Given the description of an element on the screen output the (x, y) to click on. 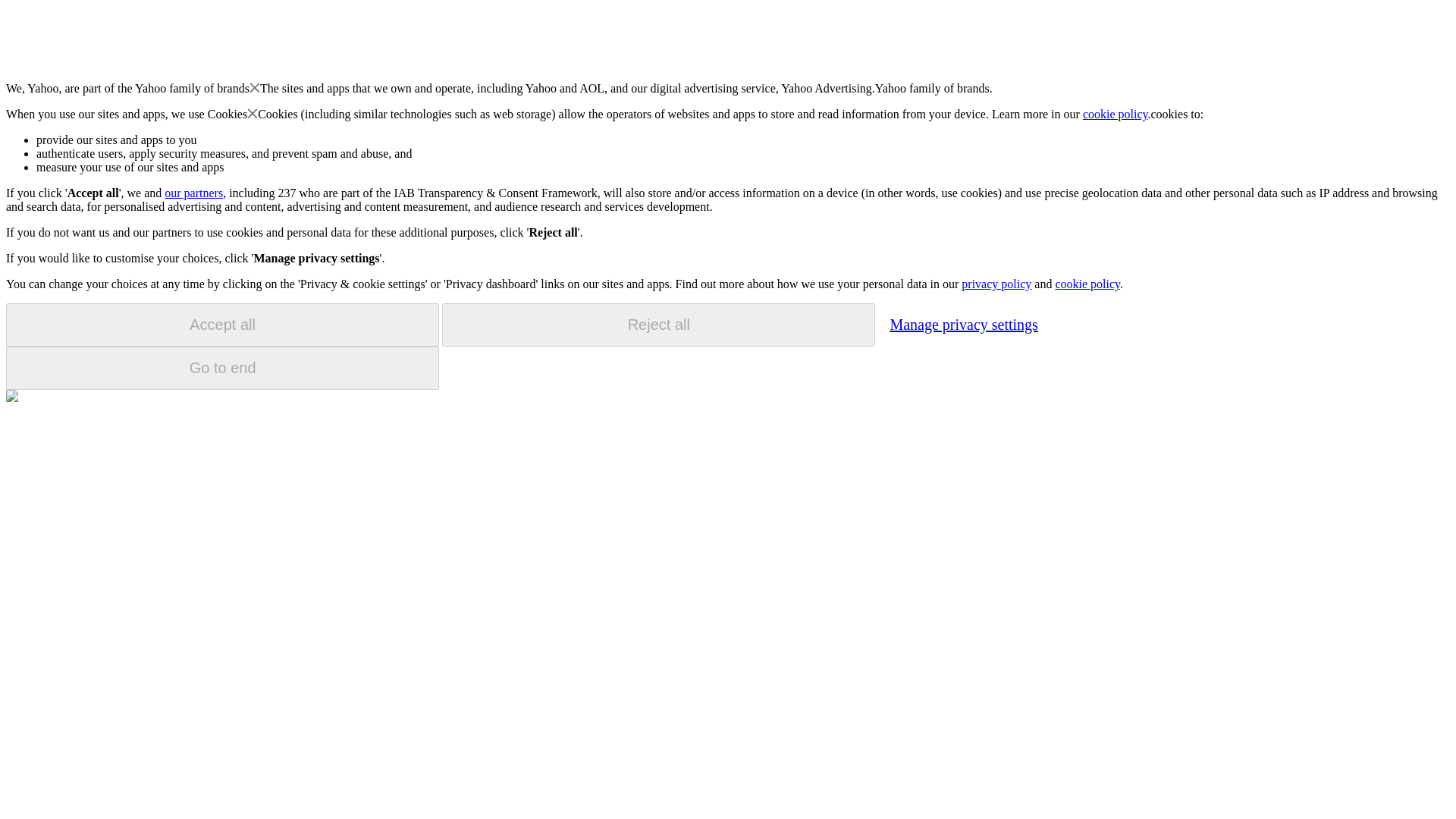
Reject all (658, 324)
Accept all (222, 324)
cookie policy (1115, 113)
Manage privacy settings (963, 323)
our partners (193, 192)
Go to end (222, 367)
privacy policy (995, 283)
cookie policy (1086, 283)
